Given the description of an element on the screen output the (x, y) to click on. 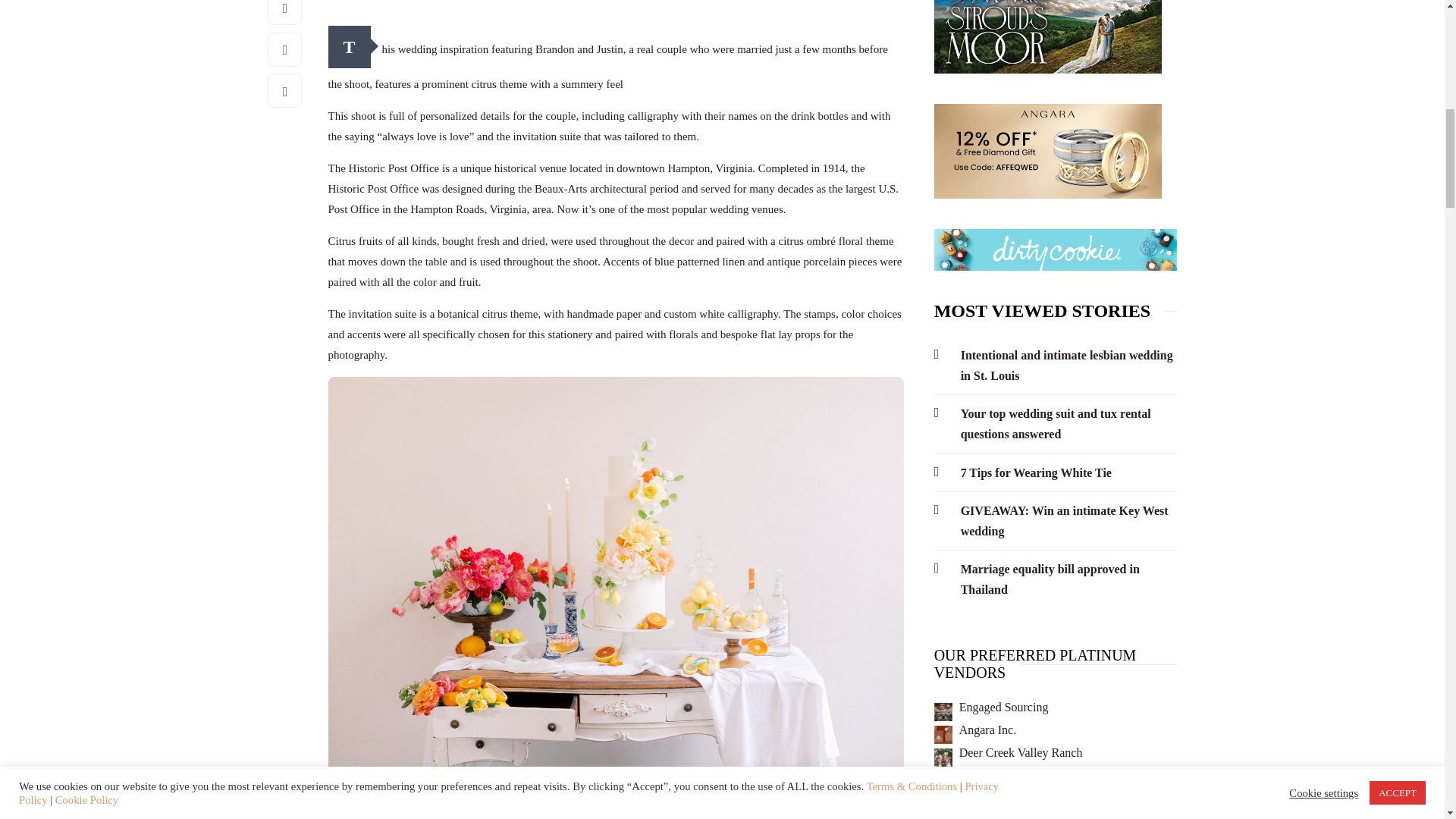
Summer citrus wedding inspiration at historic post office (614, 591)
